Given the description of an element on the screen output the (x, y) to click on. 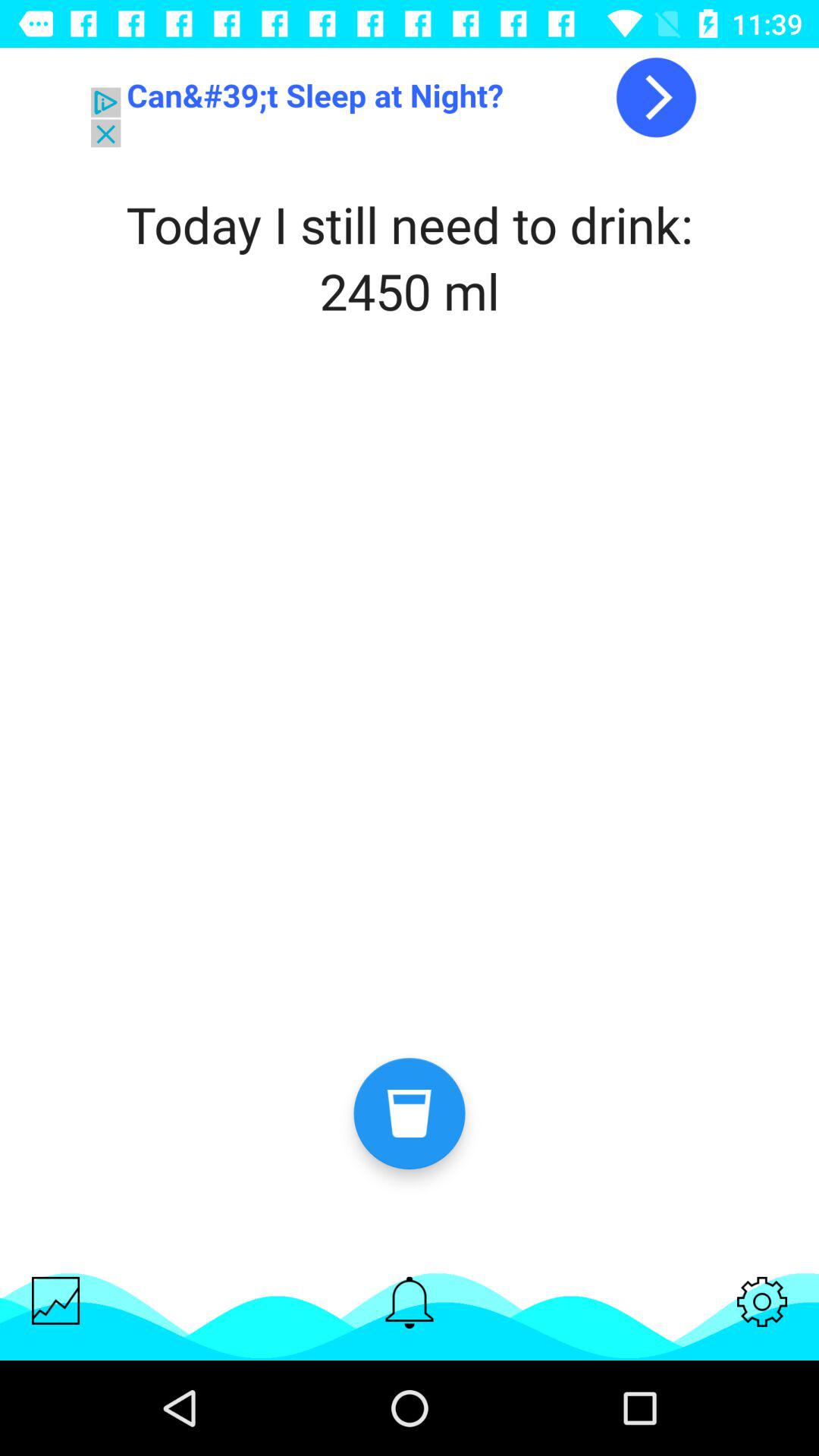
go to setting (762, 1301)
